Given the description of an element on the screen output the (x, y) to click on. 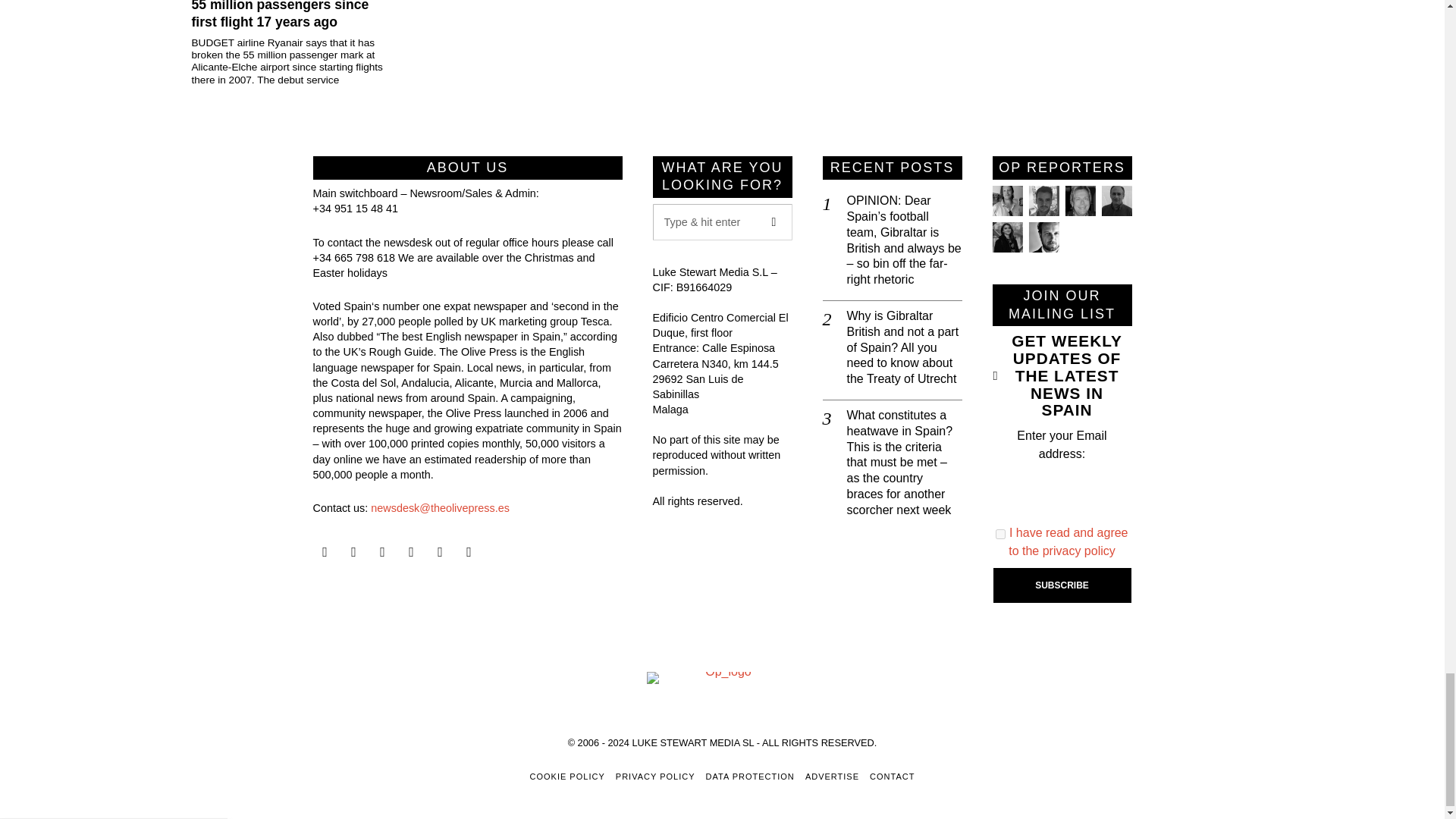
Go (773, 221)
Dilip Kuner (1115, 200)
1 (1000, 533)
SUBSCRIBE (1061, 585)
Laurence Dollimore (1042, 200)
Alex Trelinski (1079, 200)
